Given the description of an element on the screen output the (x, y) to click on. 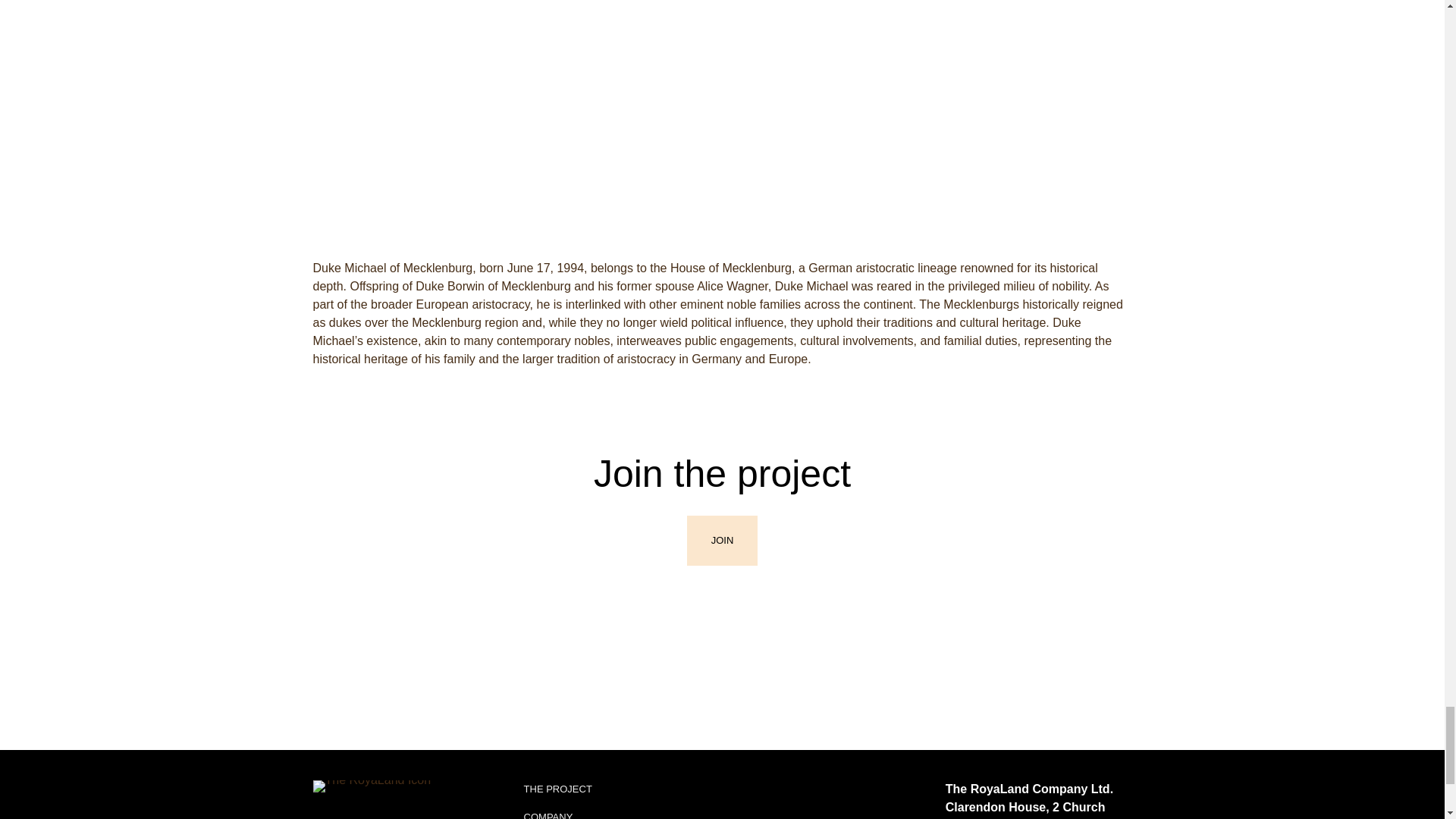
JOIN (722, 540)
THE PROJECT (558, 788)
Icona RoyaLand (371, 786)
Herzog-Michael (721, 118)
COMPANY (548, 815)
